Given the description of an element on the screen output the (x, y) to click on. 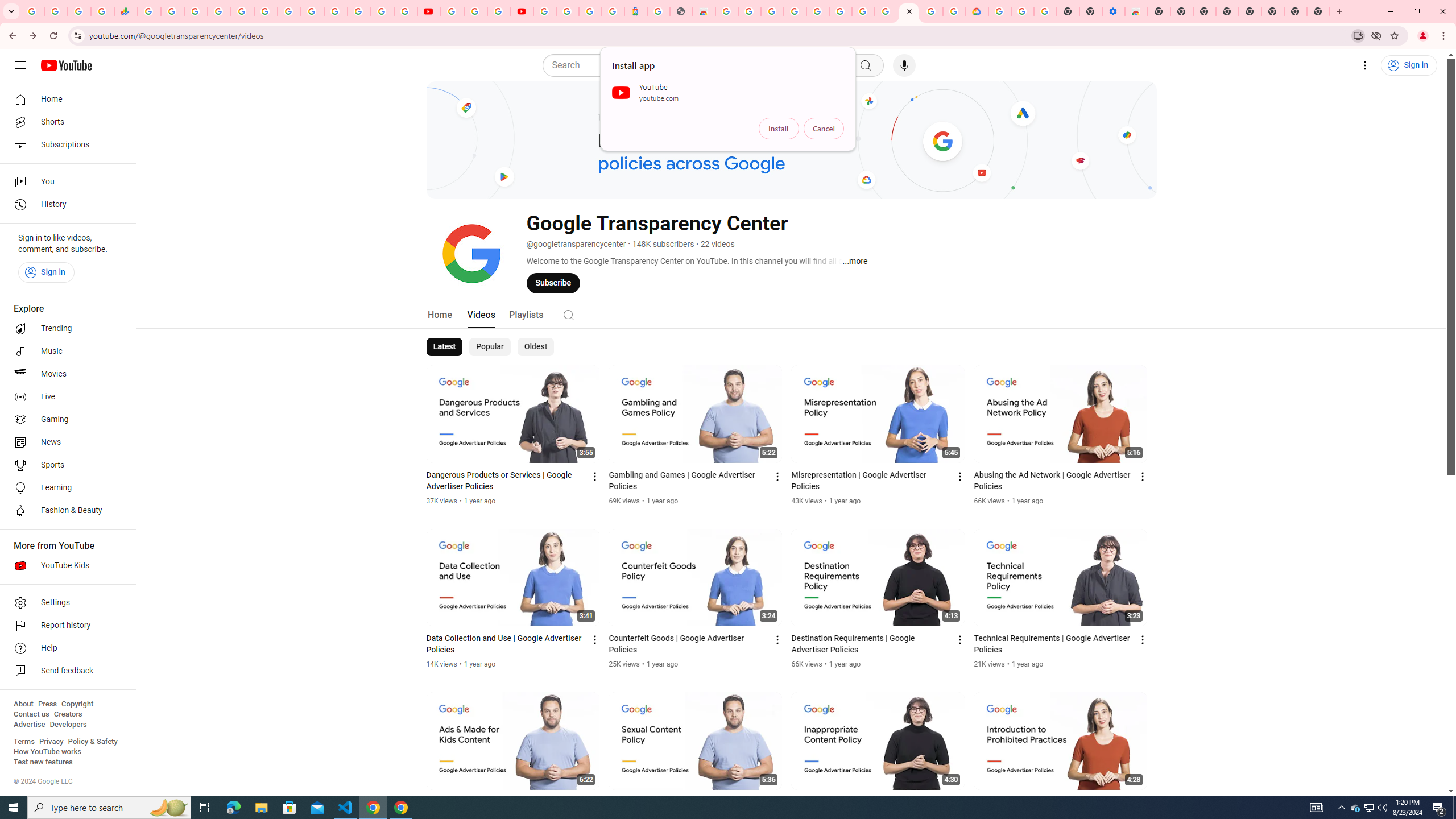
Android TV Policies and Guidelines - Transparency Center (885, 11)
Chrome Web Store - Accessibility extensions (1136, 11)
Press (46, 703)
Home (64, 99)
Sign in - Google Accounts (381, 11)
How YouTube works (47, 751)
Sign in - Google Accounts (817, 11)
Content Creator Programs & Opportunities - YouTube Creators (521, 11)
